Given the description of an element on the screen output the (x, y) to click on. 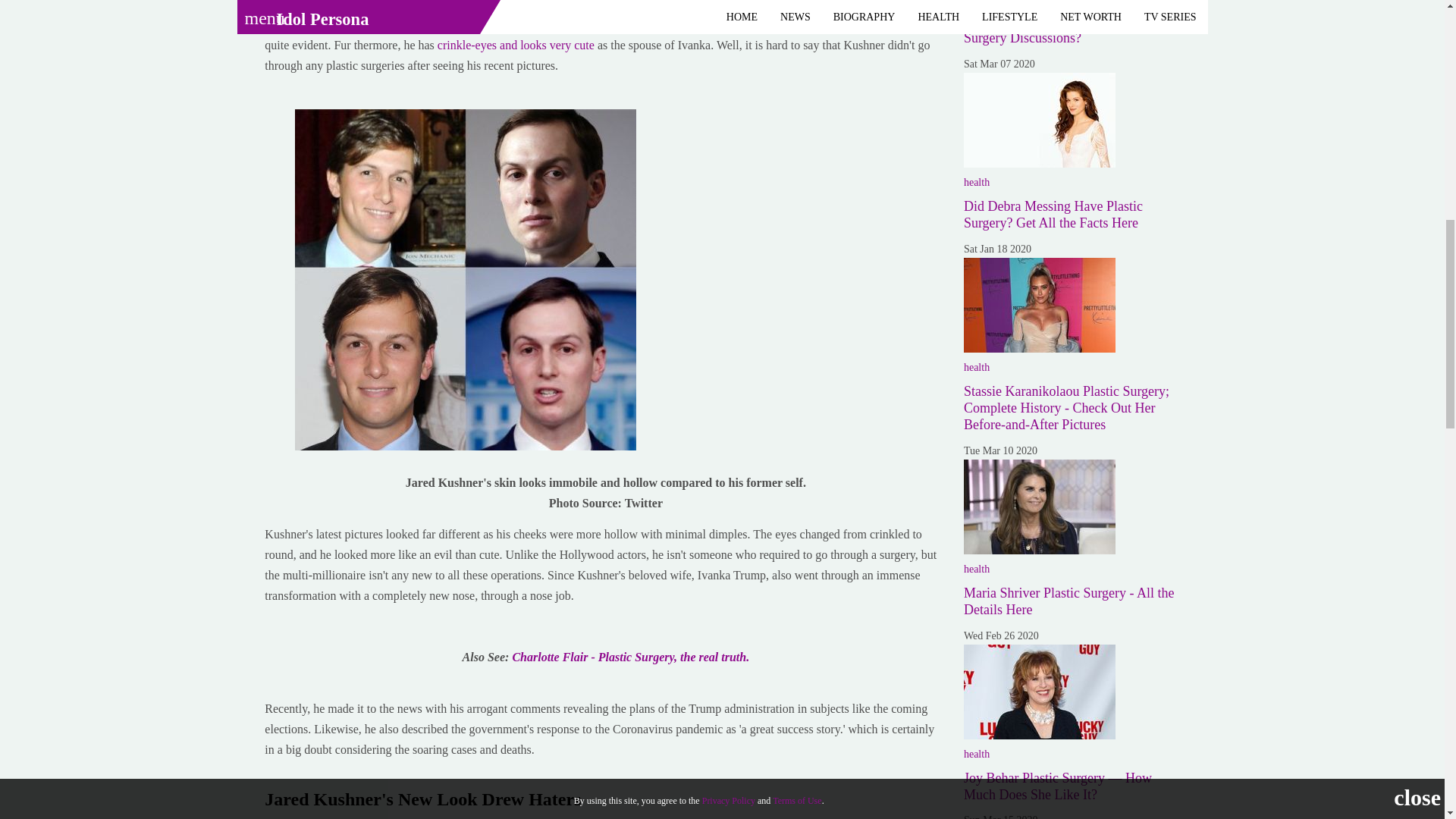
Charlotte Flair - Plastic Surgery, the real truth. (630, 656)
crinkle-eyes and looks very cute  (517, 44)
Maria Shriver Plastic Surgery - All the Details Here (1068, 601)
What's Up with Kaitlin Olson's Plastic Surgery Discussions? (1068, 29)
Maria Shriver Plastic Surgery - All the Details Here (1039, 506)
